Given the description of an element on the screen output the (x, y) to click on. 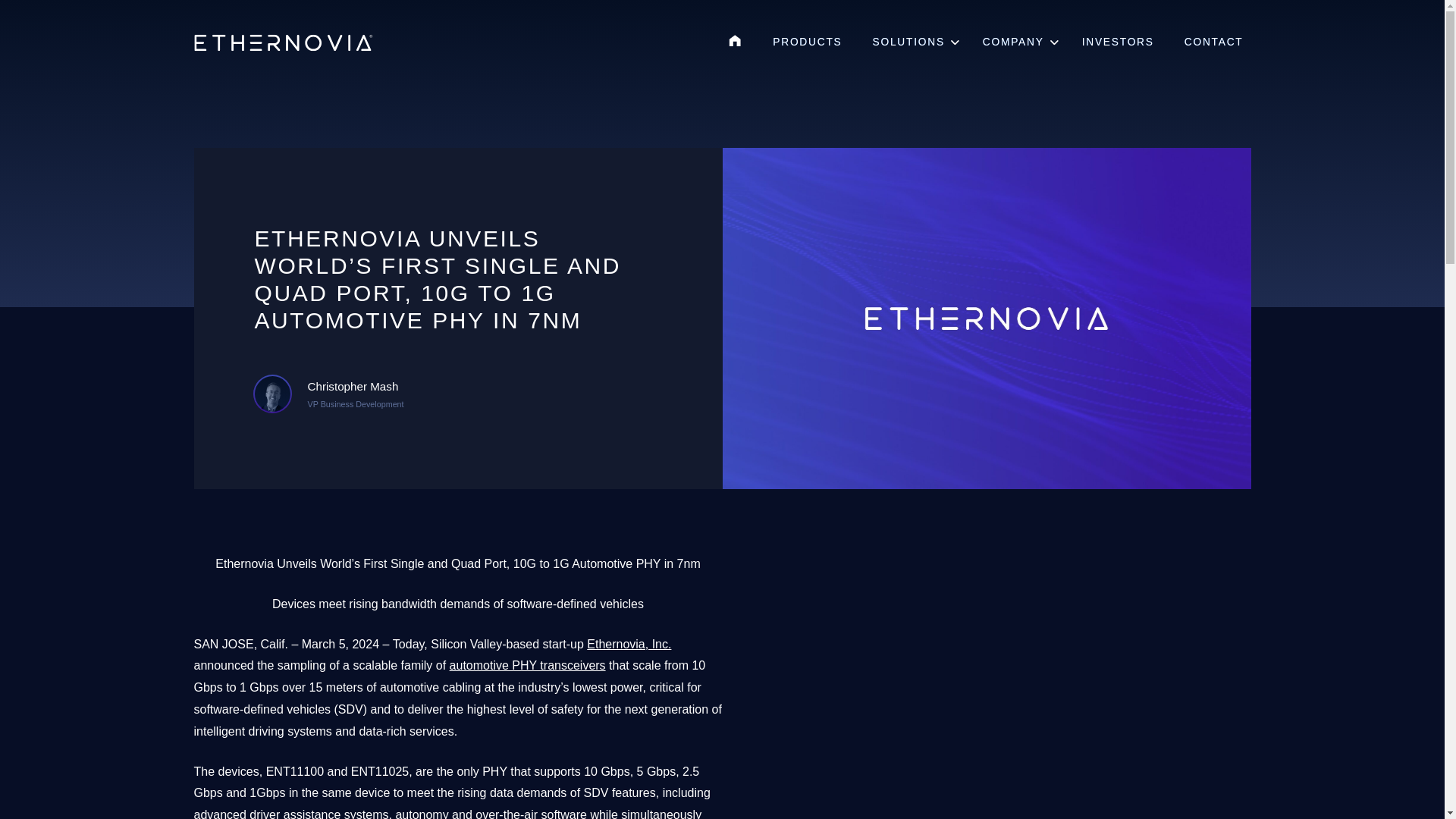
automotive PHY transceivers (527, 665)
CONTACT (1213, 42)
PRODUCTS (806, 42)
SOLUTIONS (911, 42)
COMPANY (1017, 42)
Ethernovia, Inc. (628, 644)
INVESTORS (1117, 42)
